Given the description of an element on the screen output the (x, y) to click on. 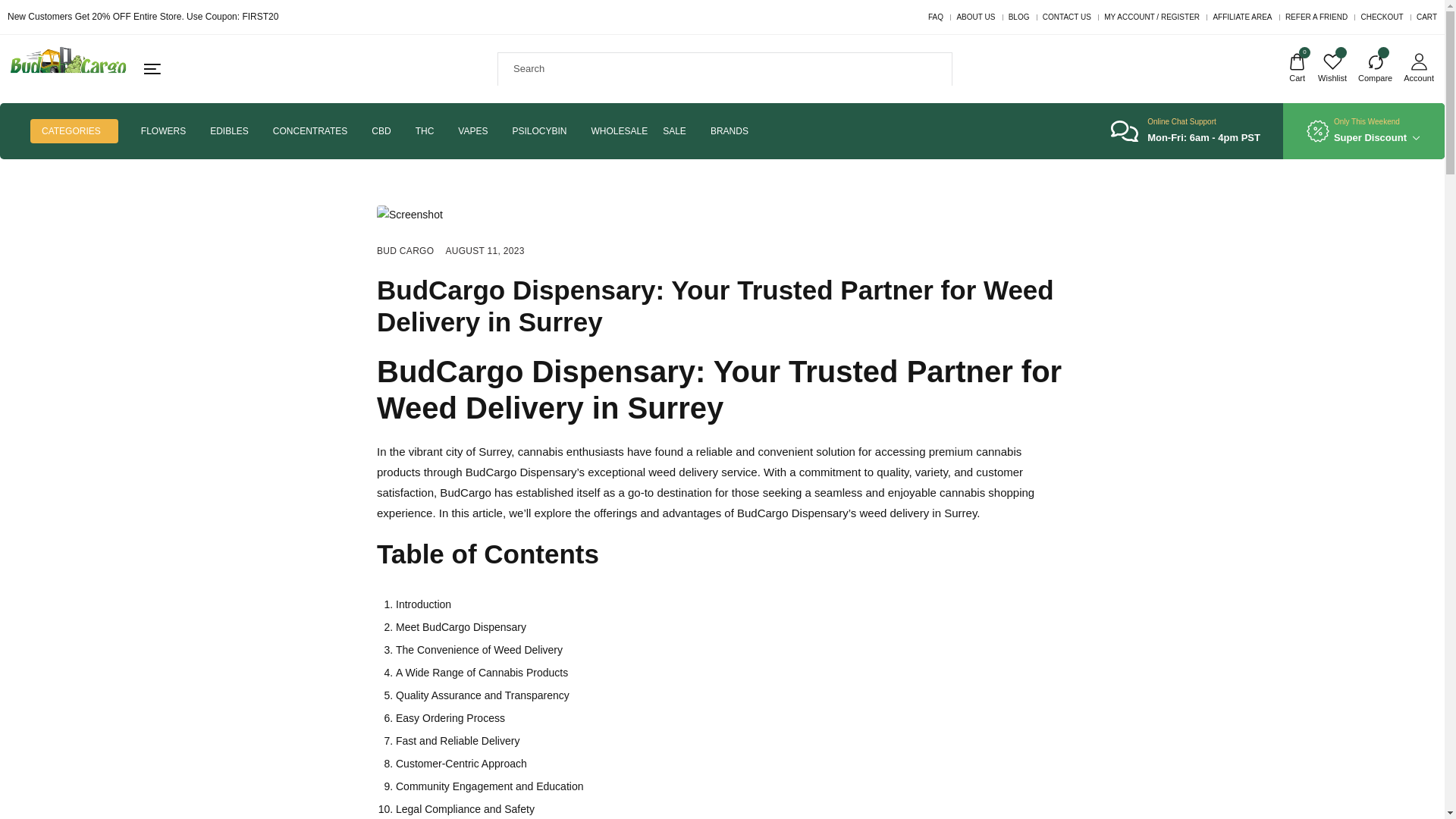
REFER A FRIEND (1316, 17)
BLOG (1019, 17)
ABOUT US (975, 17)
CHECKOUT (1381, 17)
CART (1426, 17)
Account (1418, 69)
CONTACT US (1066, 17)
AFFILIATE AREA (1241, 17)
FAQ (935, 17)
